Given the description of an element on the screen output the (x, y) to click on. 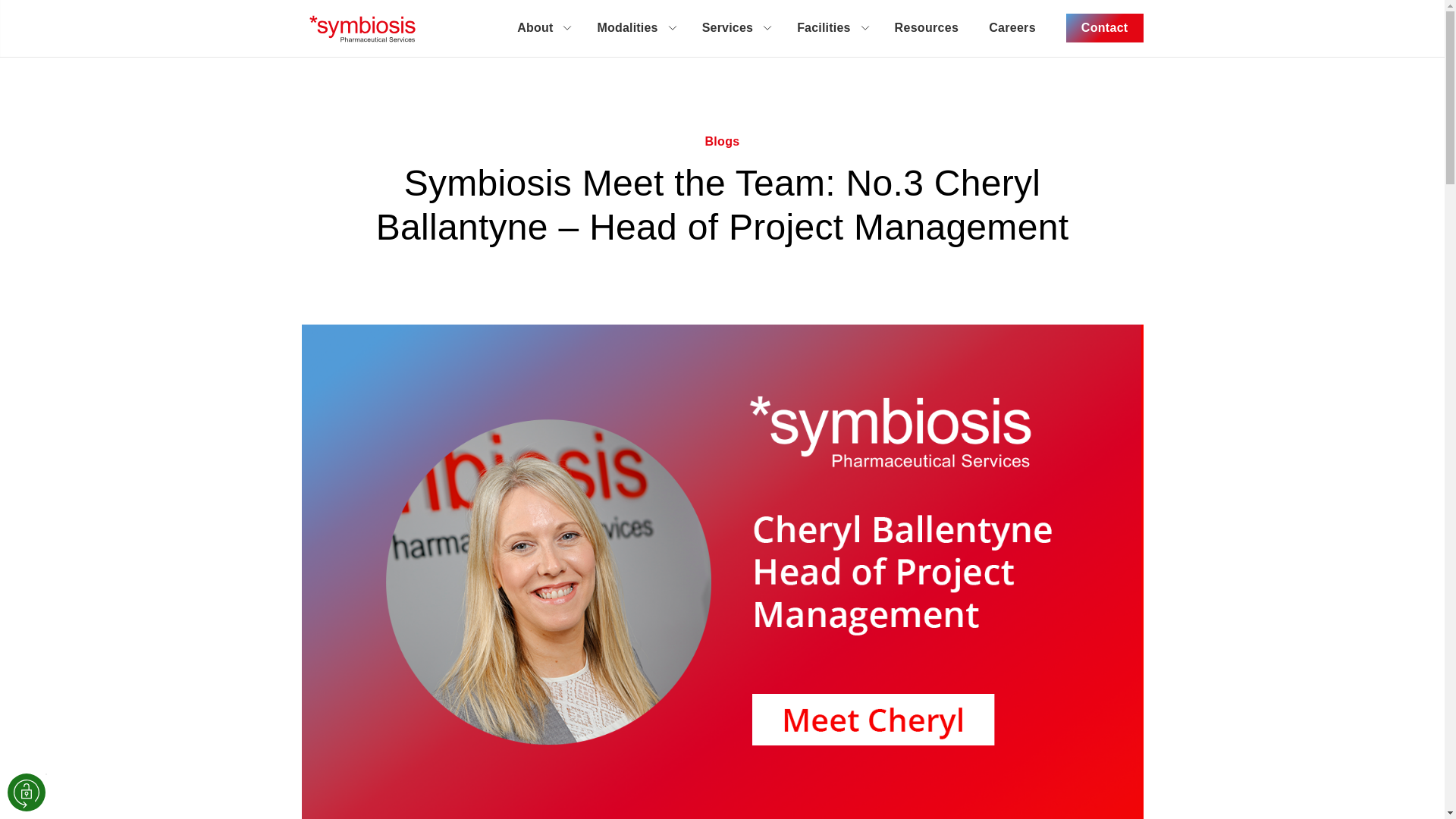
About (541, 27)
